Given the description of an element on the screen output the (x, y) to click on. 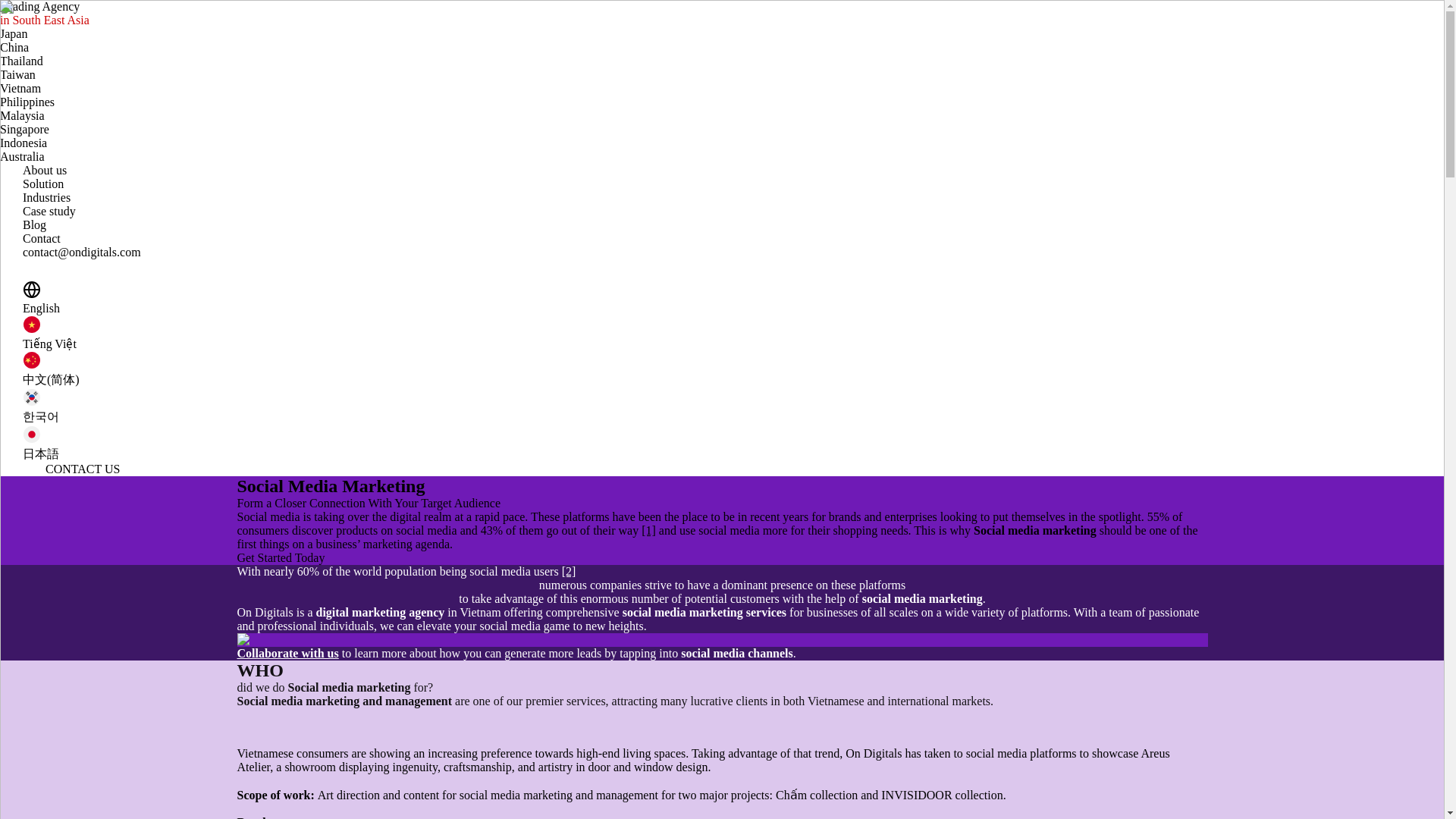
CONTACT US (82, 468)
Get Started Today (279, 557)
Collaborate with us (286, 653)
